Given the description of an element on the screen output the (x, y) to click on. 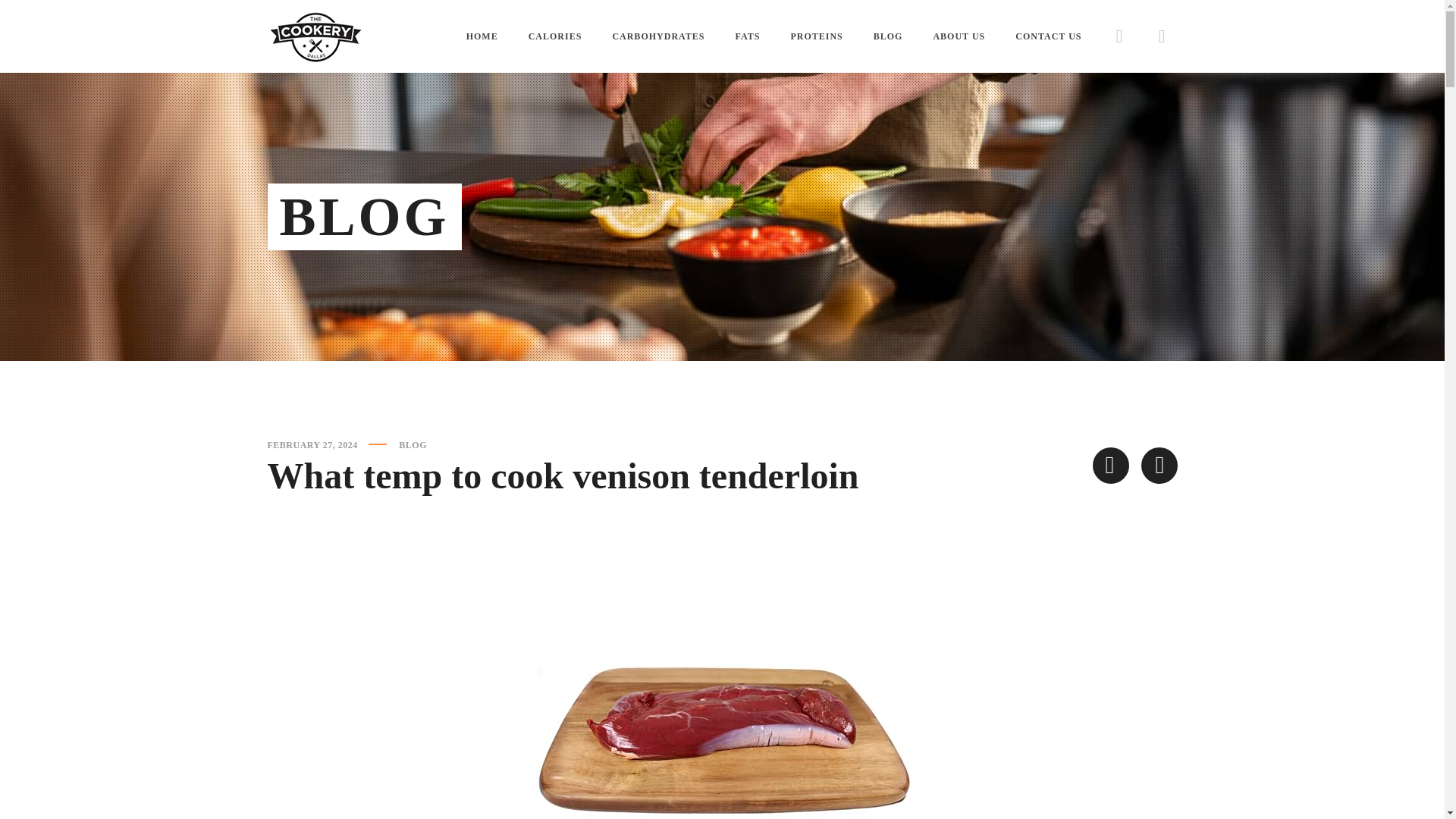
BLOG (412, 444)
BLOG (887, 35)
CALORIES (555, 35)
FATS (747, 35)
CARBOHYDRATES (657, 35)
ABOUT US (959, 35)
CONTACT US (1047, 35)
Go to How many calories in frank's buffalo sauce (1110, 465)
PROTEINS (816, 35)
HOME (481, 35)
